Given the description of an element on the screen output the (x, y) to click on. 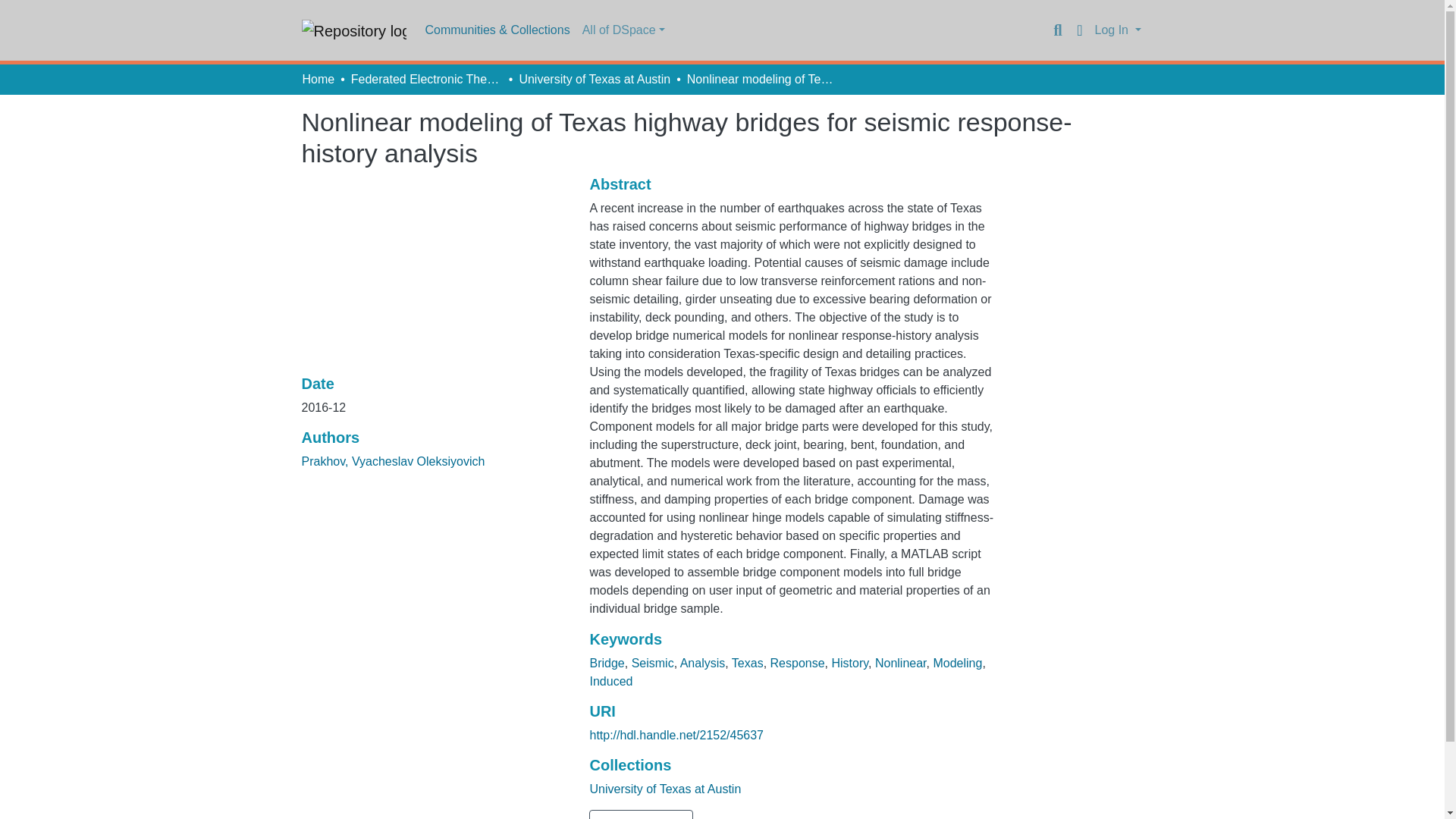
Induced (610, 680)
Log In (1117, 30)
Prakhov, Vyacheslav Oleksiyovich (392, 461)
Search (1057, 30)
Modeling (957, 662)
Analysis (702, 662)
Language switch (1079, 30)
Texas (747, 662)
Response (797, 662)
Home (317, 79)
History (849, 662)
All of DSpace (623, 30)
Nonlinear (900, 662)
Federated Electronic Theses and Dissertations (426, 79)
Full item page (641, 814)
